Given the description of an element on the screen output the (x, y) to click on. 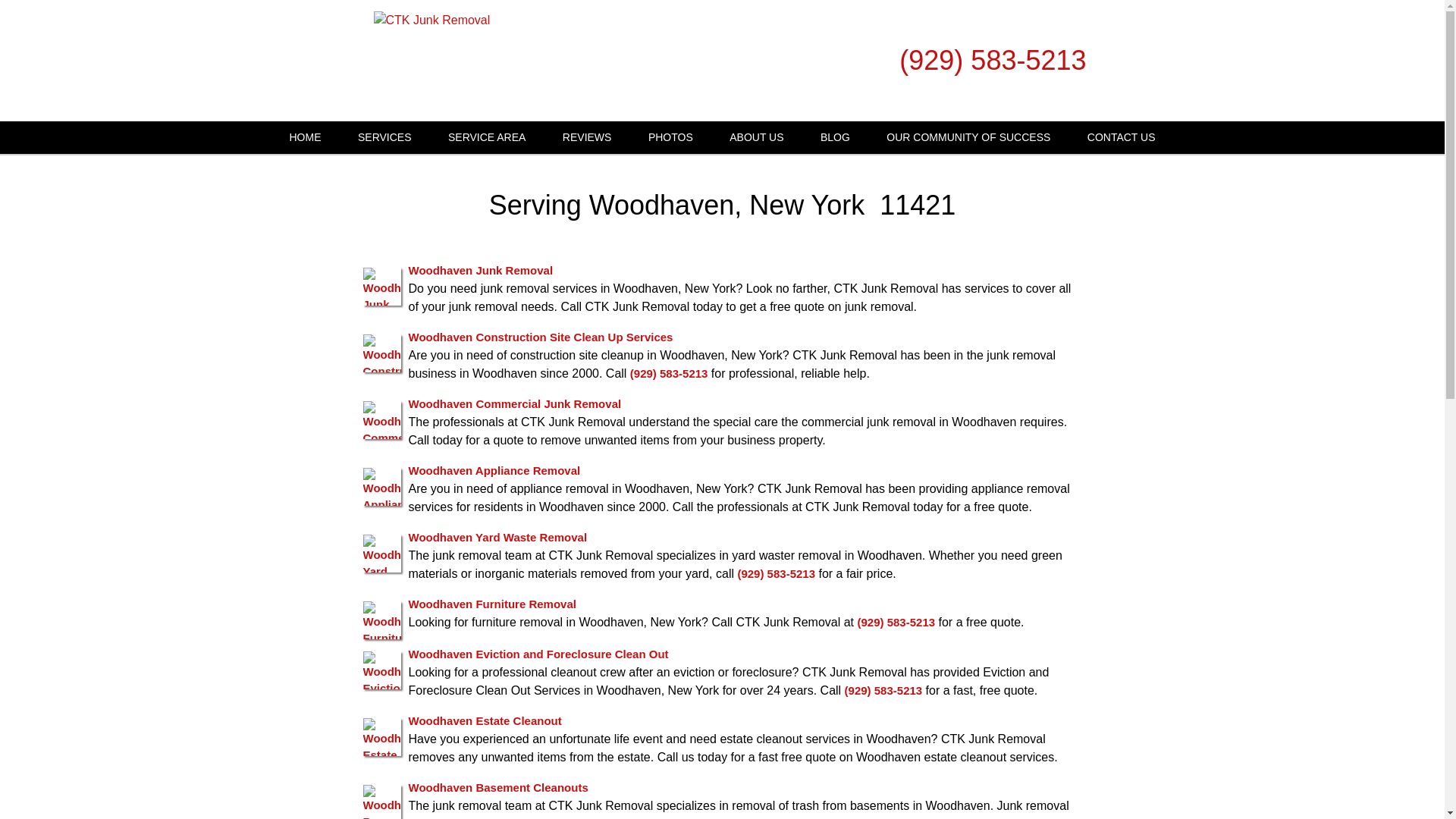
Woodhaven Eviction and Foreclosure Clean Out (537, 653)
SERVICE AREA (485, 137)
PHOTOS (670, 137)
SERVICES (384, 137)
Woodhaven Appliance Removal (493, 470)
ABOUT US (756, 137)
BLOG (834, 137)
Woodhaven Construction Site Clean Up Services (539, 336)
Woodhaven Junk Removal (480, 269)
Woodhaven Estate Cleanout (483, 720)
CONTACT US (1121, 137)
Woodhaven Basement Cleanouts (497, 787)
REVIEWS (587, 137)
HOME (305, 137)
OUR COMMUNITY OF SUCCESS (968, 137)
